Given the description of an element on the screen output the (x, y) to click on. 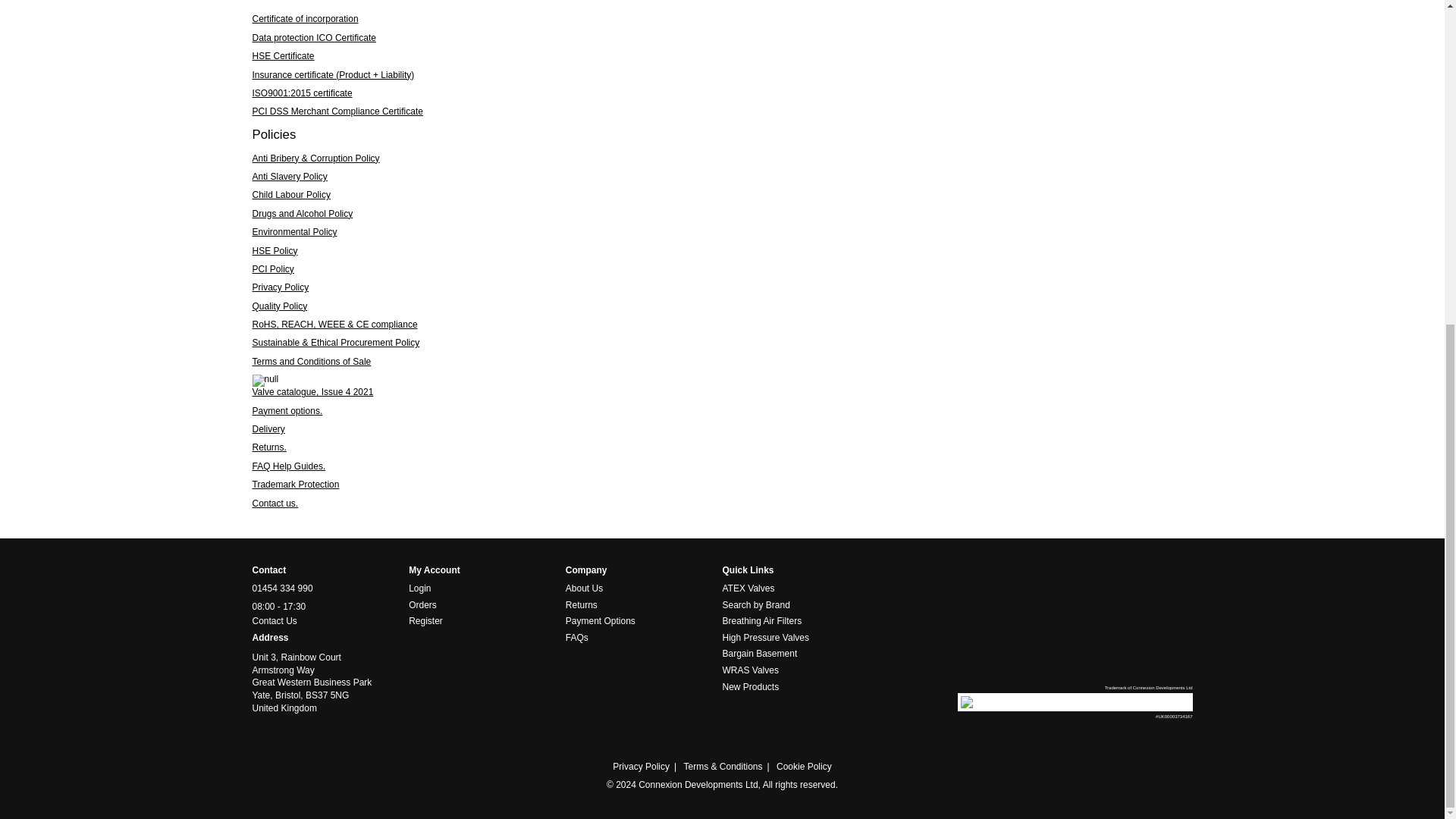
ISO9001:2015 certificate (301, 92)
Delivery (267, 429)
PCI DSS Merchant Compliance Certificate (336, 111)
Contact us. (274, 502)
Data protection ICO Certificate (313, 37)
Trademark Protection (295, 484)
Valve catalogue, Issue 4 2021 (311, 391)
Payment options. (286, 410)
Child Labour Policy (290, 194)
Certificate of incorporation (304, 18)
FAQ Help Guides. (287, 466)
Terms and Conditions of Sale (311, 361)
HSE Policy (274, 250)
PCI Policy (272, 268)
Returns. (268, 447)
